Given the description of an element on the screen output the (x, y) to click on. 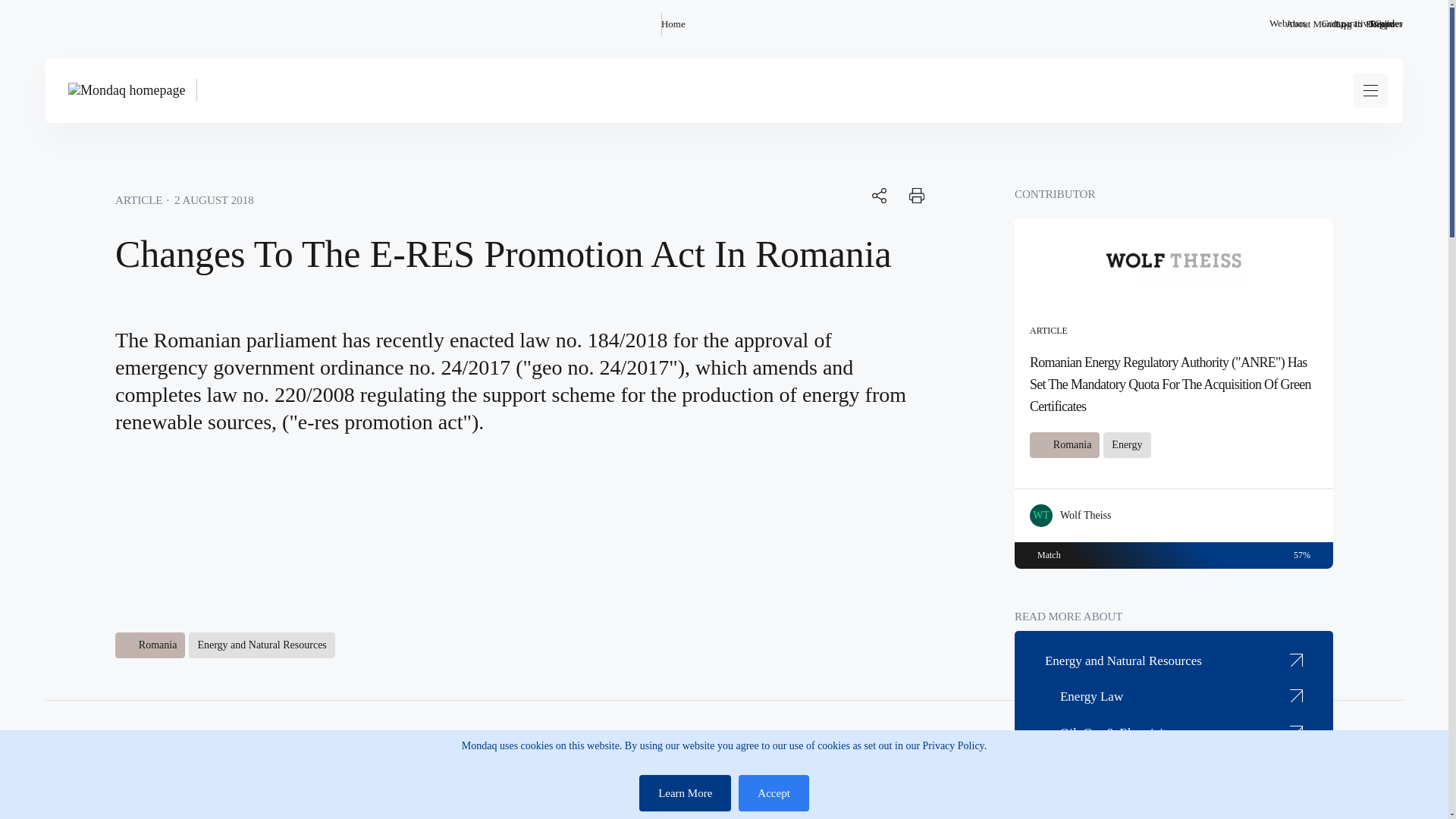
About Mondaq (1315, 24)
Comparative Guides (1362, 23)
Webinars (1287, 23)
Home (673, 24)
